Given the description of an element on the screen output the (x, y) to click on. 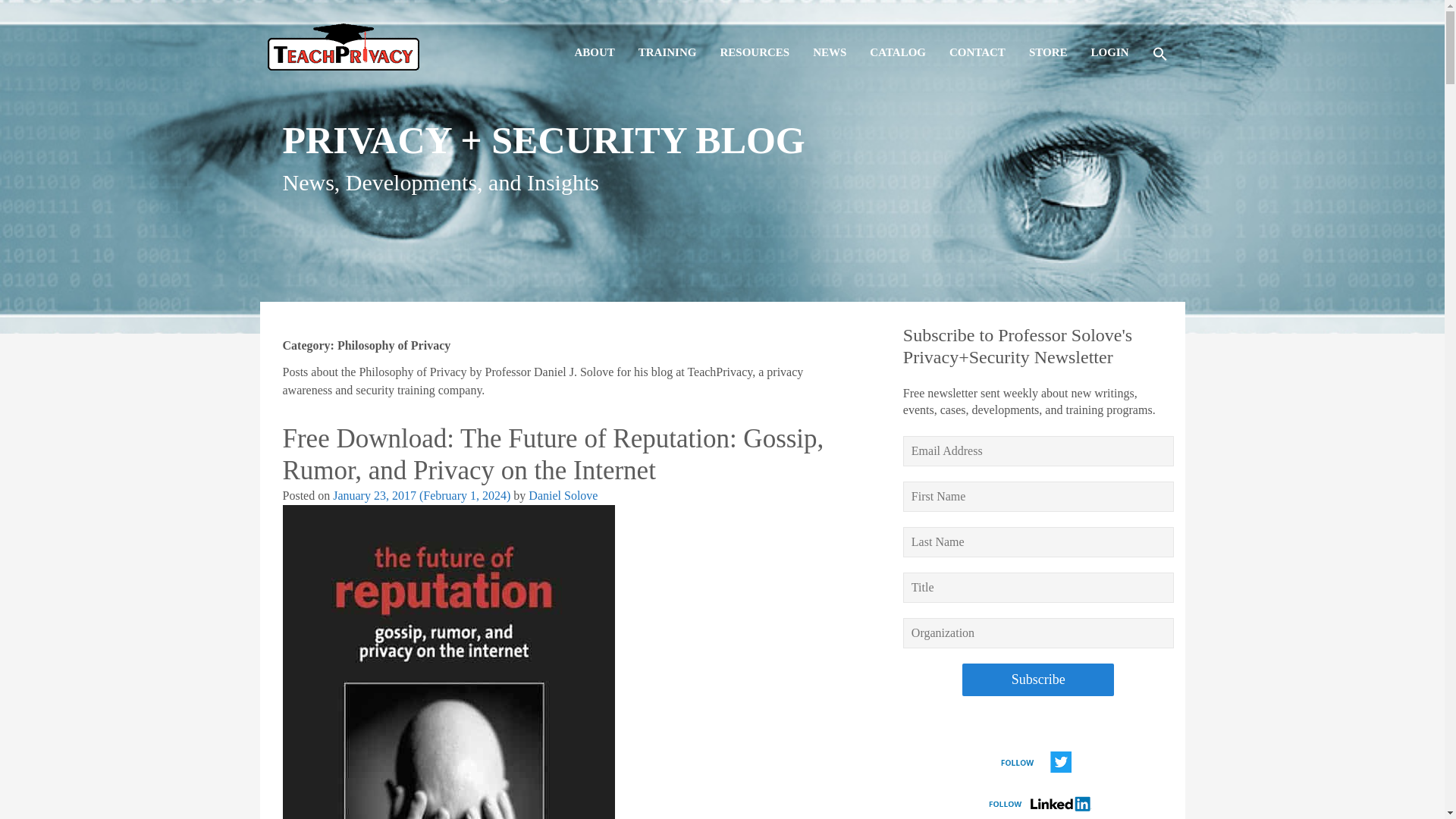
TRAINING (667, 39)
Training (667, 39)
Subscribe (1037, 679)
RESOURCES (753, 39)
